Given the description of an element on the screen output the (x, y) to click on. 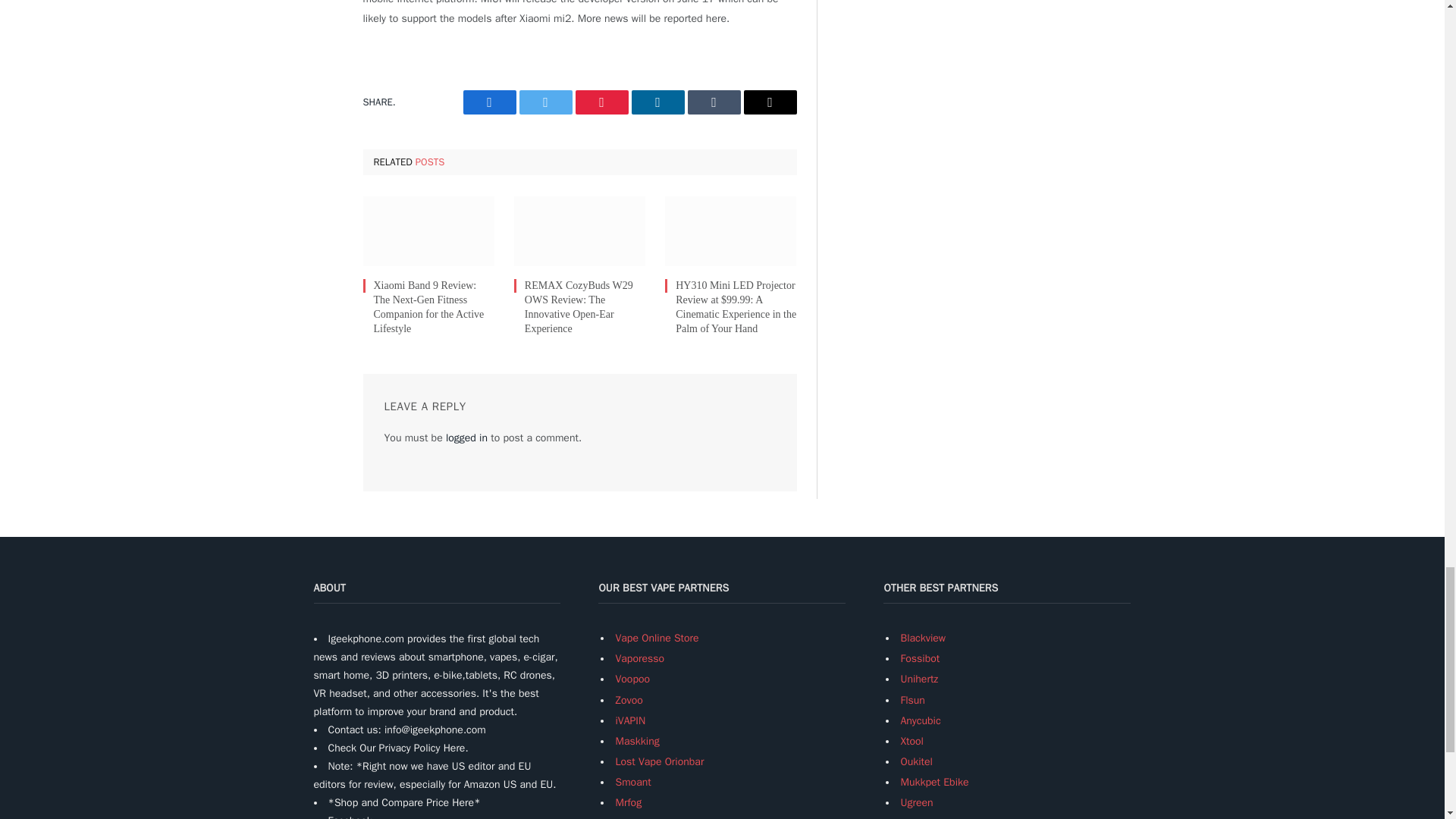
Share on Twitter (545, 102)
Share on Pinterest (601, 102)
Share on Facebook (489, 102)
